Given the description of an element on the screen output the (x, y) to click on. 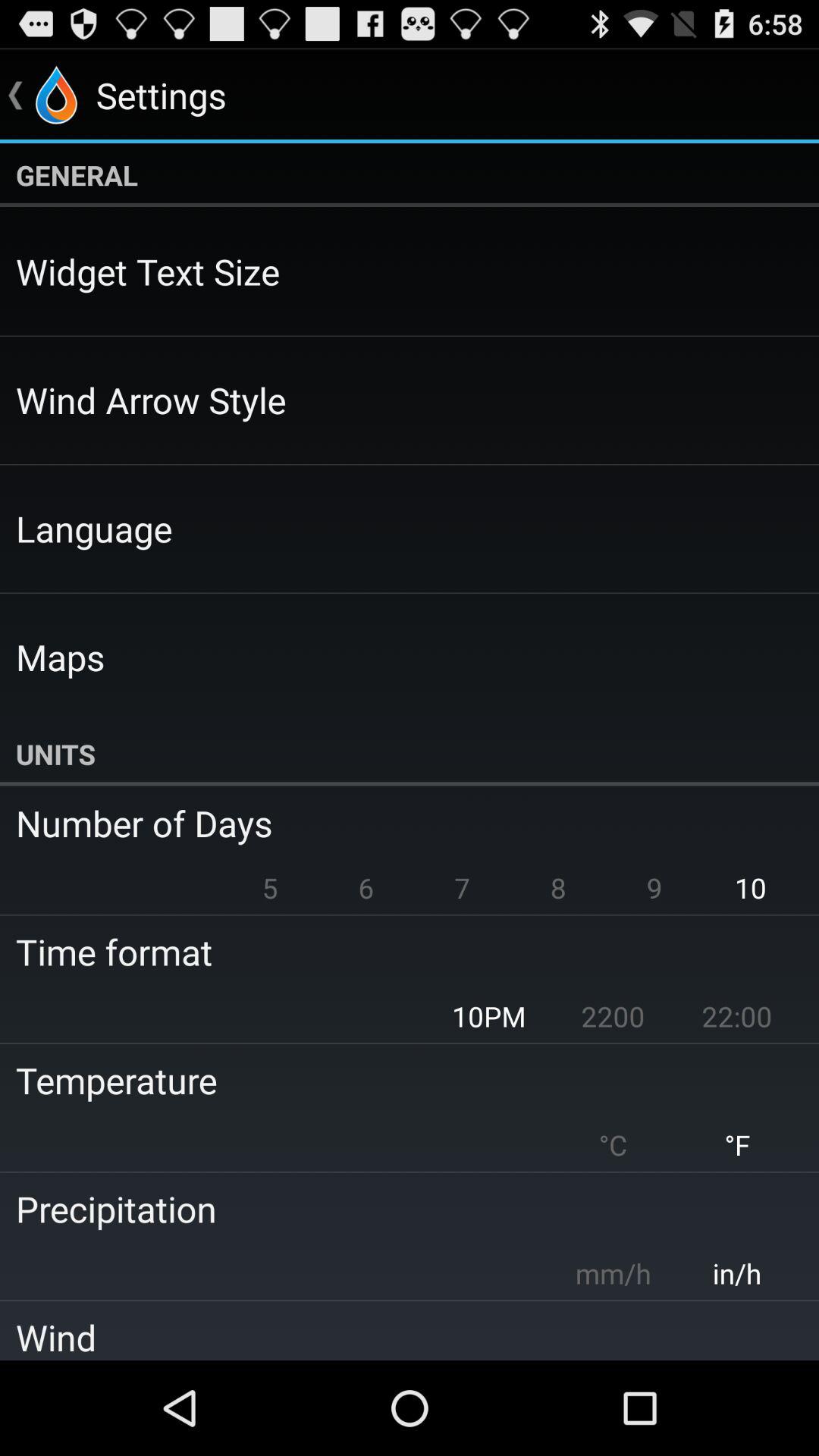
open item below the general app (147, 271)
